Given the description of an element on the screen output the (x, y) to click on. 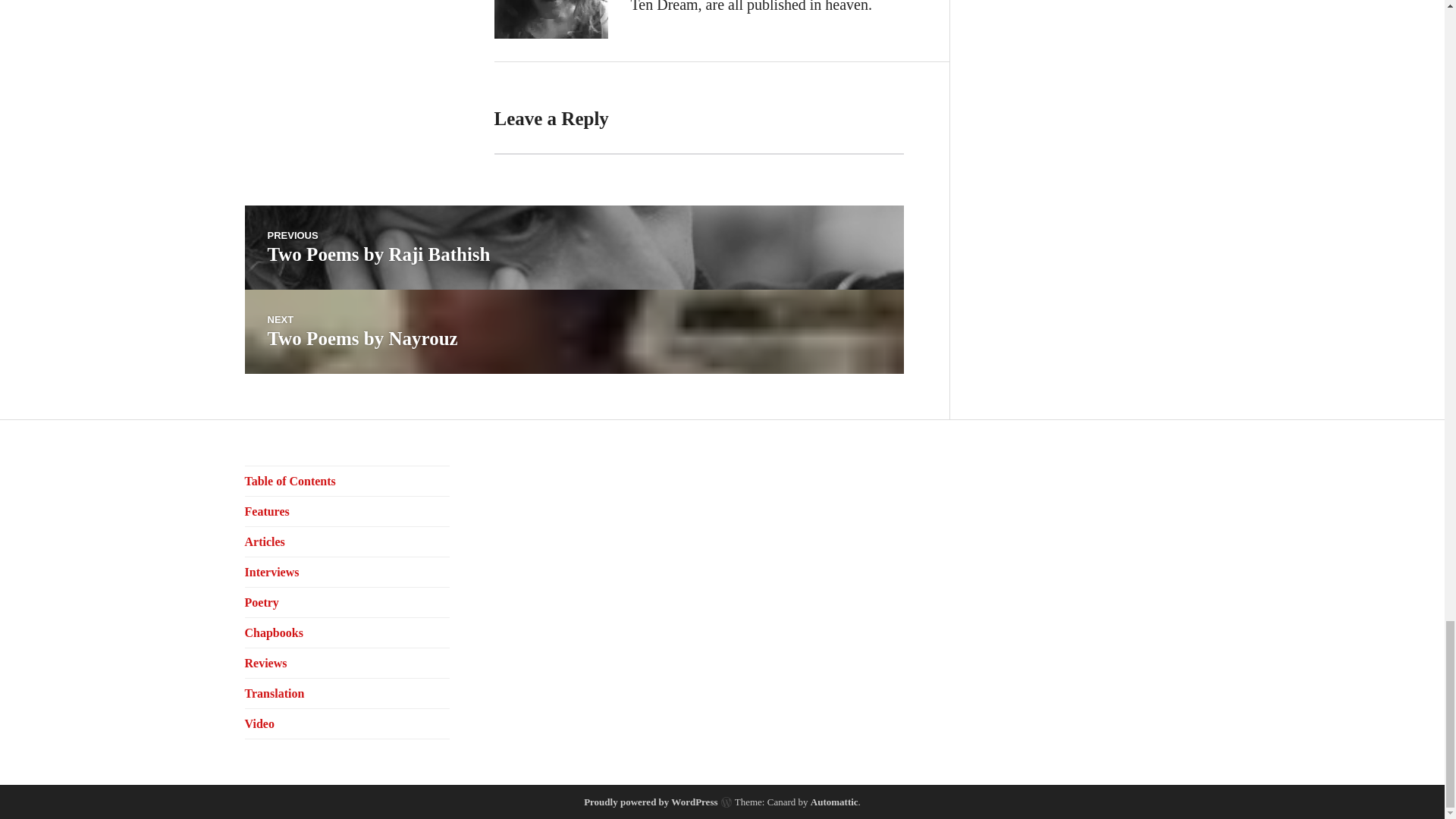
Features (573, 331)
Comment Form (266, 511)
Table of Contents (573, 247)
